Given the description of an element on the screen output the (x, y) to click on. 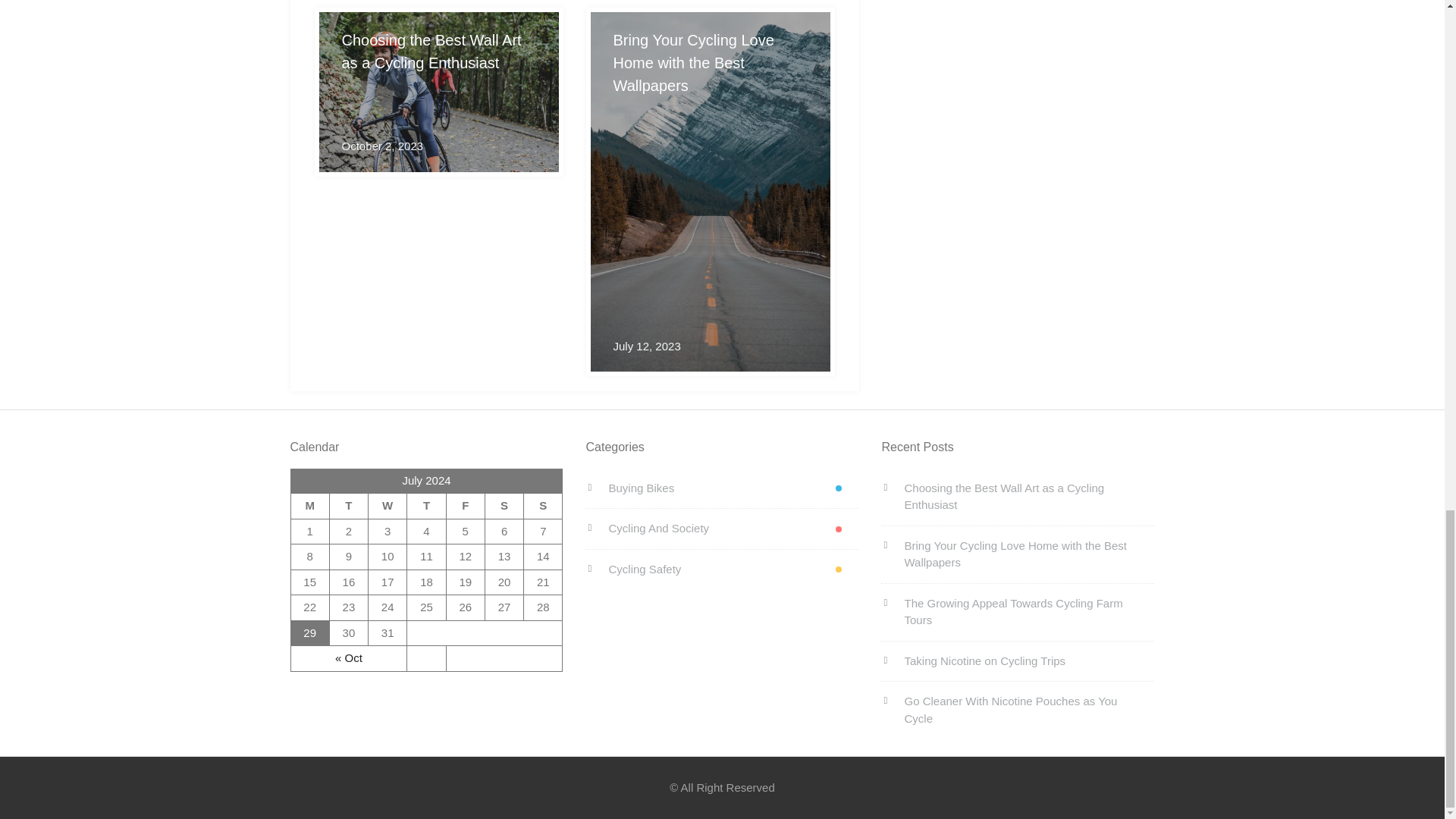
Thursday (426, 506)
Friday (464, 506)
Sunday (543, 506)
Wednesday (387, 506)
Saturday (503, 506)
Monday (309, 506)
Cycling And Society (722, 528)
Buying Bikes (722, 488)
Tuesday (348, 506)
